Given the description of an element on the screen output the (x, y) to click on. 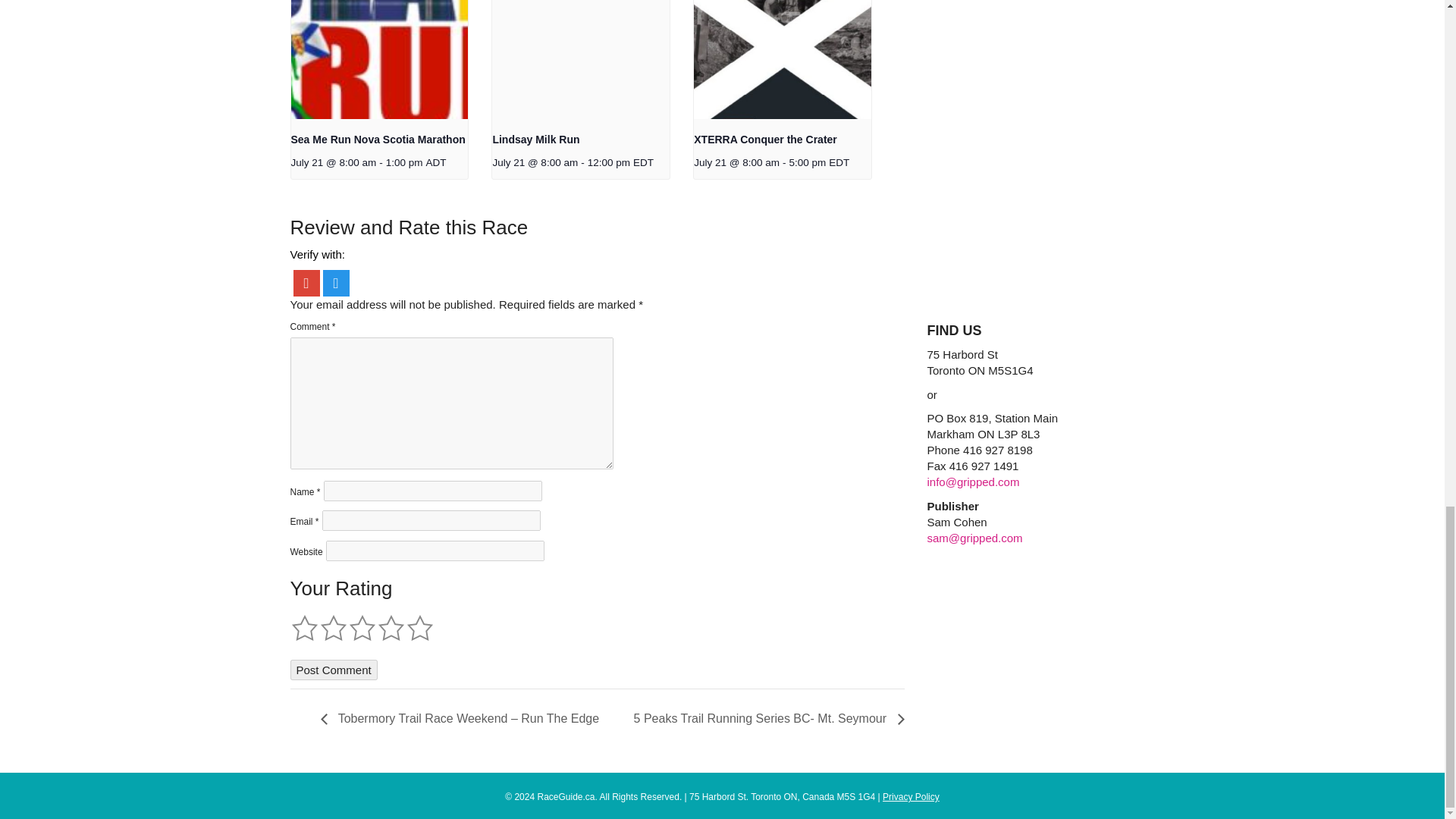
Lindsay Milk Run (535, 139)
Sea Me Run Nova Scotia Marathon (378, 139)
5 Peaks Trail Running Series BC- Mt. Seymour (765, 717)
Post Comment (333, 670)
XTERRA Conquer the Crater (765, 139)
Post Comment (333, 670)
